Given the description of an element on the screen output the (x, y) to click on. 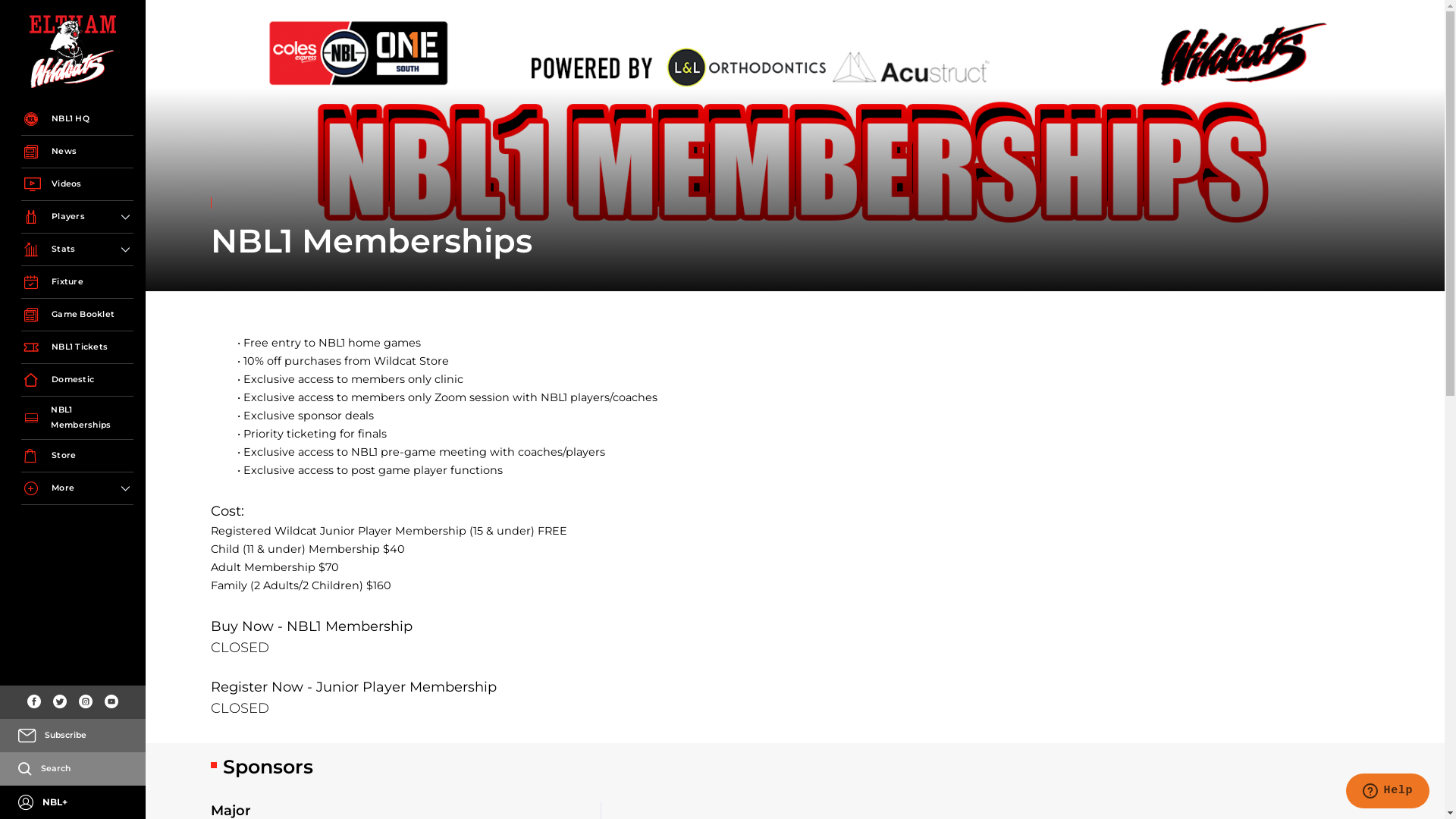
Subscribe Element type: text (80, 735)
Videos Element type: text (77, 184)
Domestic Element type: text (77, 380)
NBL1 Tickets Element type: text (77, 347)
Game Booklet Element type: text (77, 314)
Fixture Element type: text (77, 282)
Opens a widget where you can find more information Element type: hover (1387, 792)
News Element type: text (77, 151)
NBL1 Memberships Element type: text (77, 417)
Store Element type: text (77, 455)
NBL1 HQ Element type: text (77, 119)
